Given the description of an element on the screen output the (x, y) to click on. 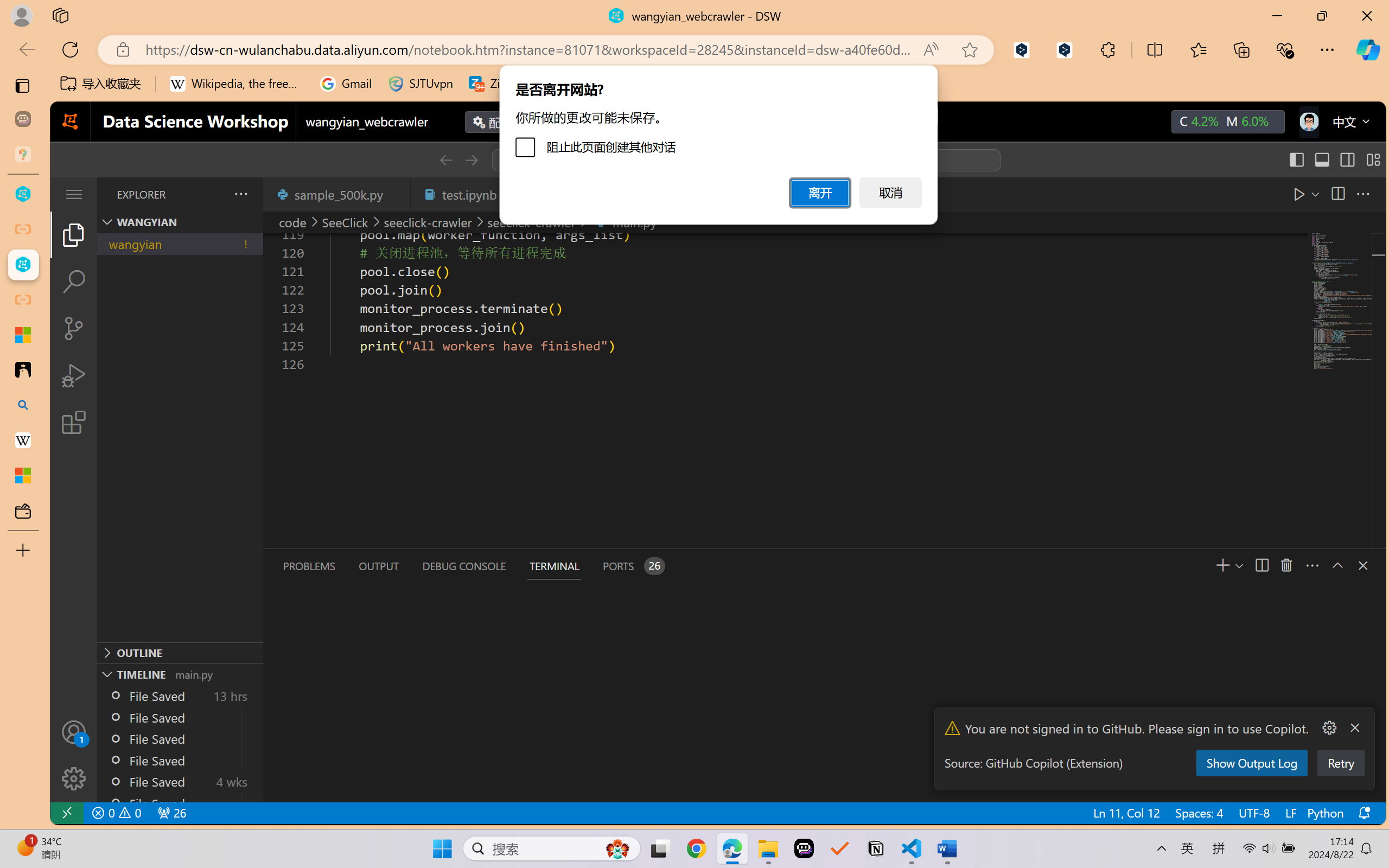
Run Python File (1273, 193)
Source Control (Ctrl+Shift+G) (73, 328)
Copilot (Ctrl+Shift+.) (1368, 49)
Explorer (Ctrl+Shift+E) (73, 234)
Problems (Ctrl+Shift+M) (308, 565)
Python (1323, 812)
